Given the description of an element on the screen output the (x, y) to click on. 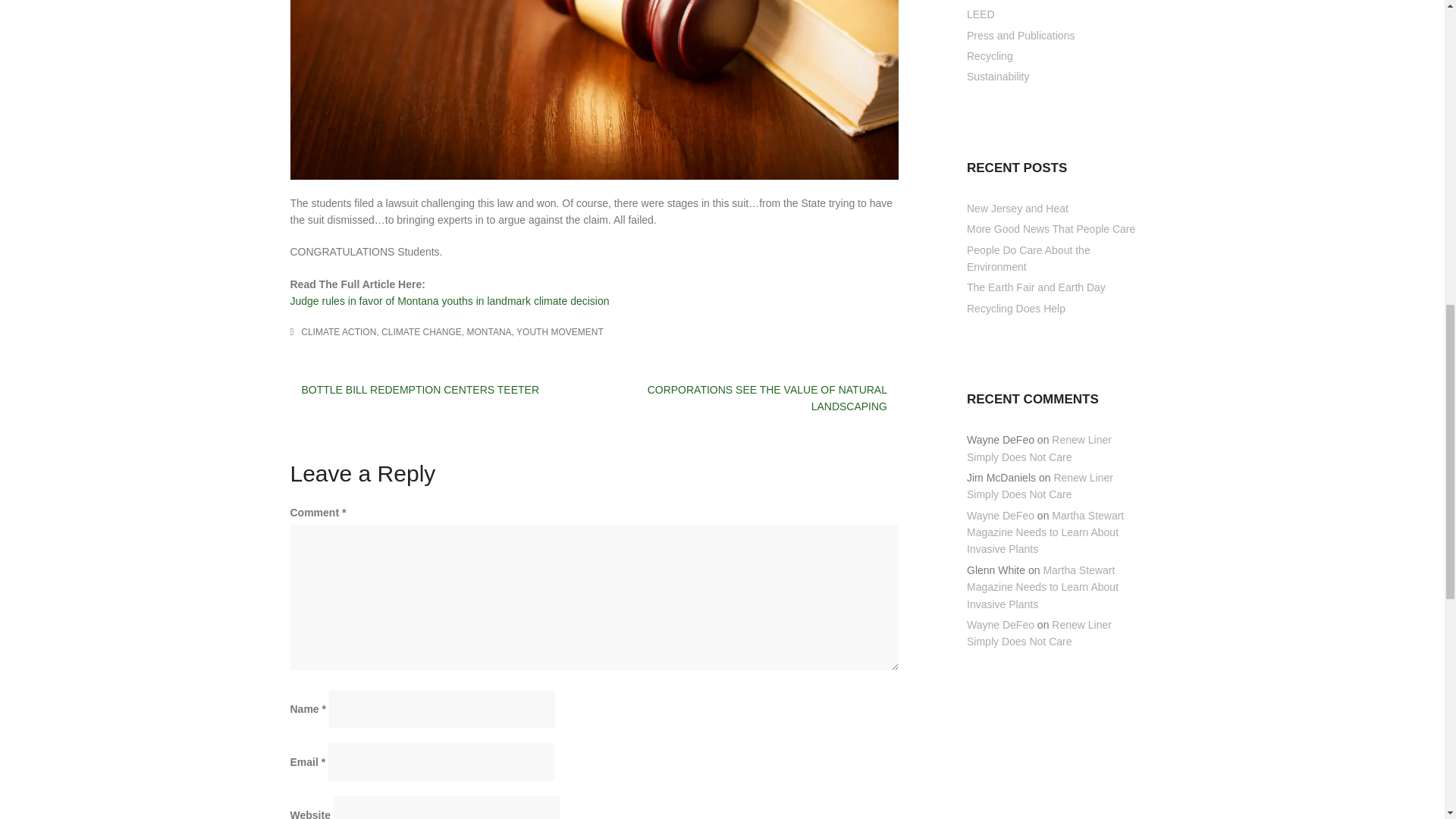
CLIMATE CHANGE (421, 331)
BOTTLE BILL REDEMPTION CENTERS TEETER (420, 389)
Recycling (989, 55)
CLIMATE ACTION (338, 331)
Press and Publications (1020, 35)
CORPORATIONS SEE THE VALUE OF NATURAL LANDSCAPING (766, 398)
MONTANA (489, 331)
YOUTH MOVEMENT (560, 331)
Sustainability (997, 76)
LEED (980, 14)
